Given the description of an element on the screen output the (x, y) to click on. 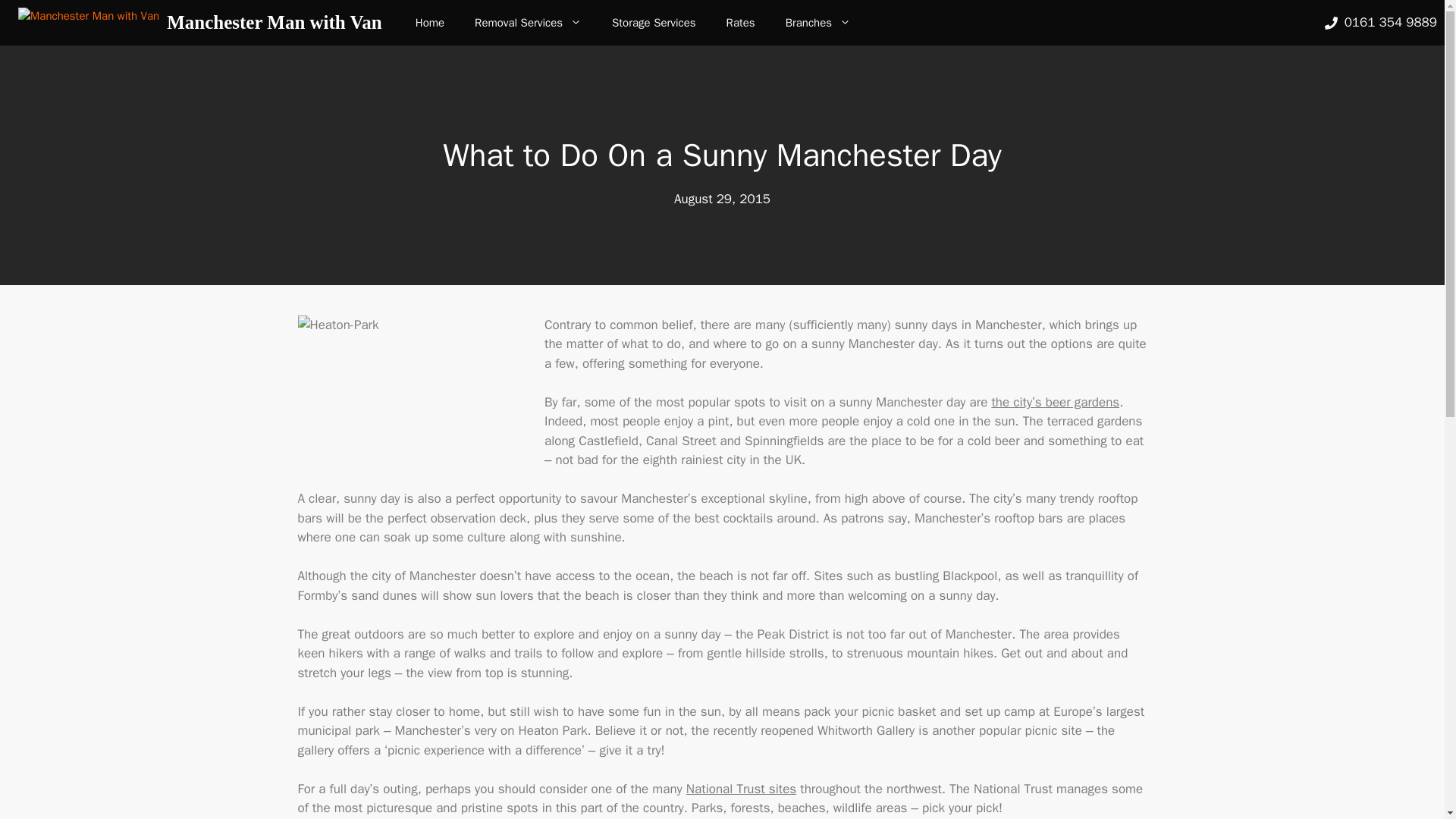
Manchester Man with Van (274, 22)
Home (430, 22)
Rates (740, 22)
Manchester Man and Van (430, 22)
Storage Services (653, 22)
Removal Services (528, 22)
Manchester Man with Van (87, 22)
Branches (818, 22)
